Given the description of an element on the screen output the (x, y) to click on. 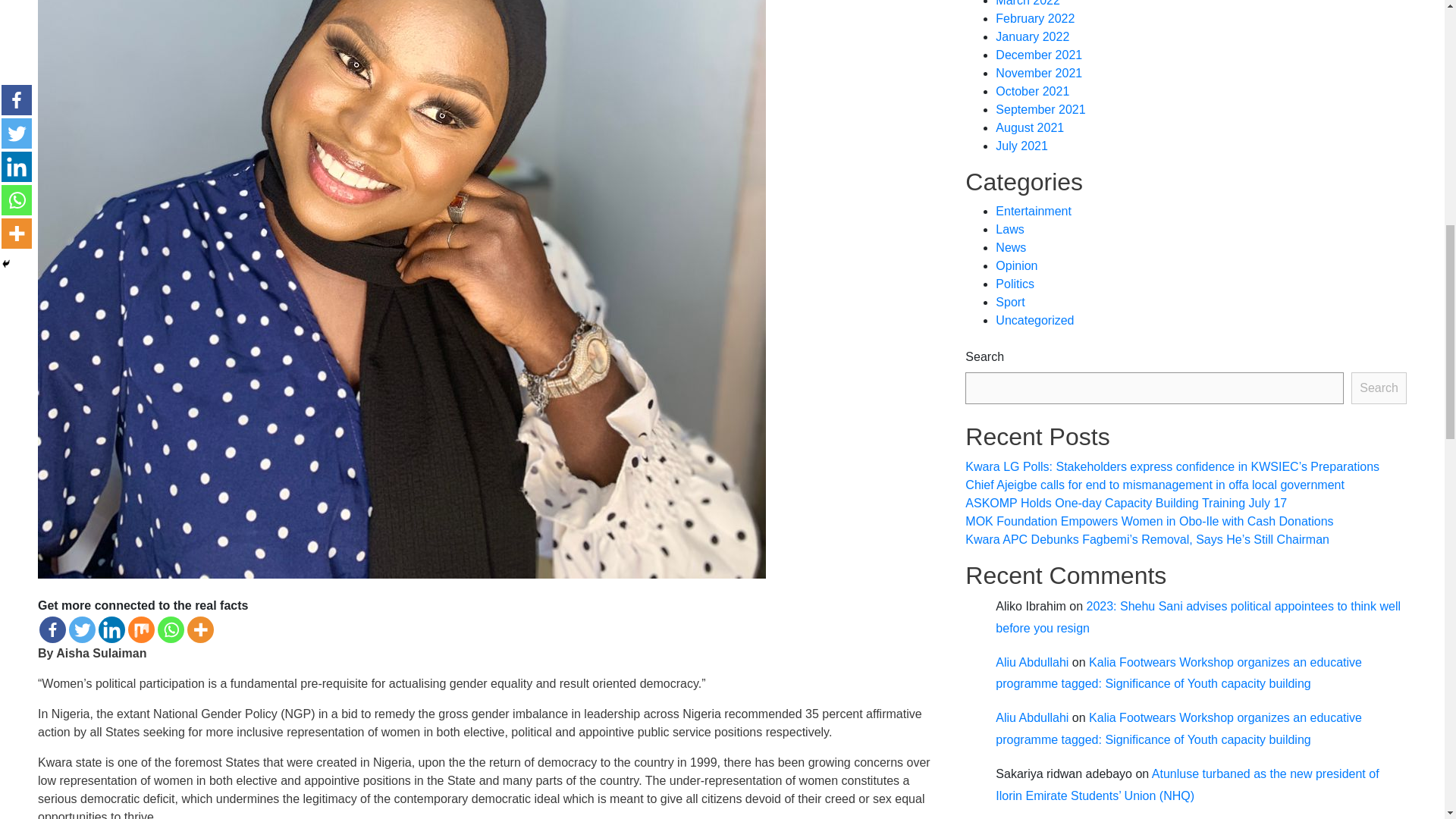
More (200, 629)
Whatsapp (170, 629)
Facebook (52, 629)
Twitter (82, 629)
Mix (141, 629)
Linkedin (112, 629)
